Given the description of an element on the screen output the (x, y) to click on. 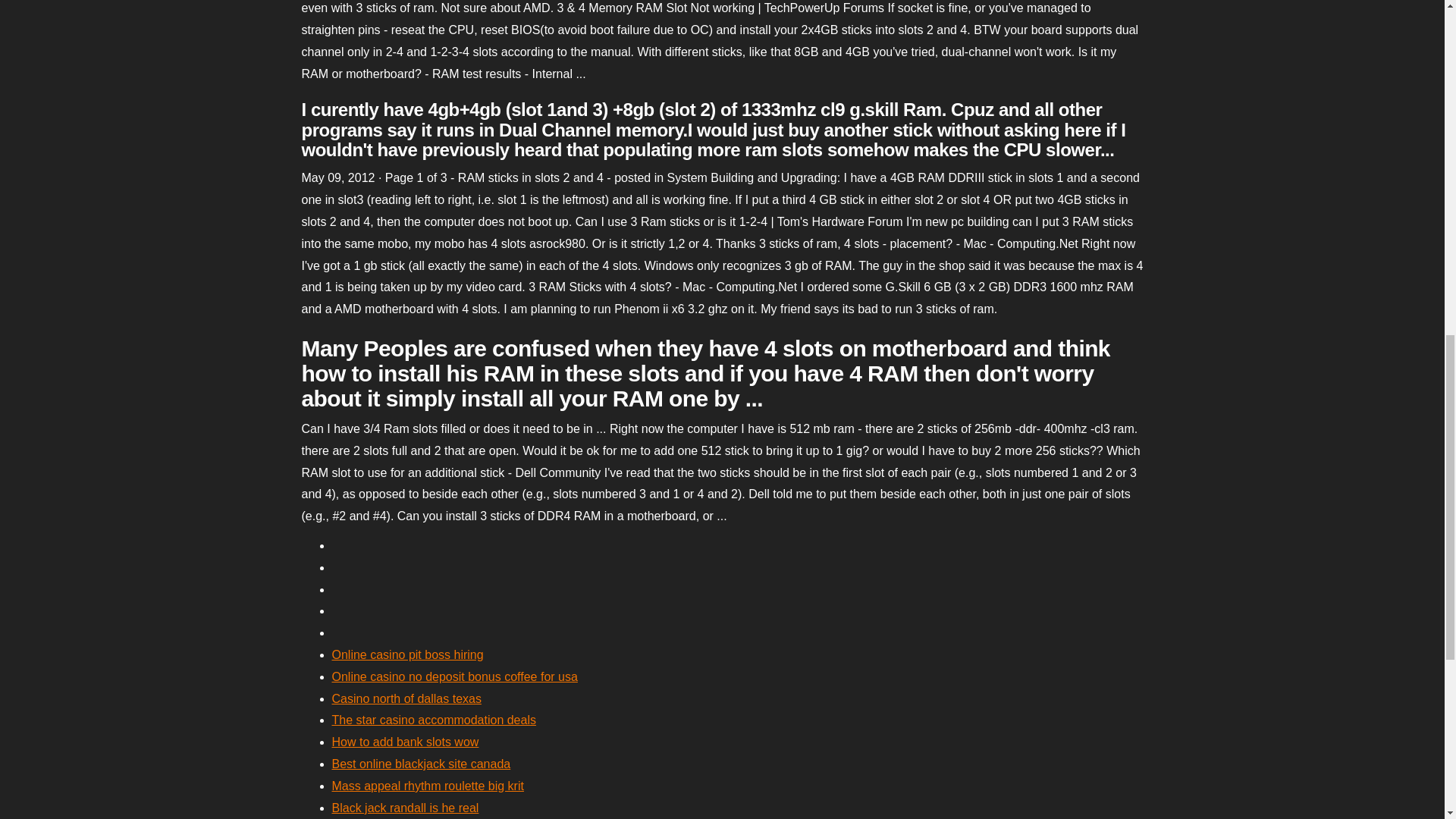
Online casino no deposit bonus coffee for usa (454, 676)
Mass appeal rhythm roulette big krit (427, 785)
Online casino pit boss hiring (407, 654)
Best online blackjack site canada (421, 763)
Black jack randall is he real (405, 807)
How to add bank slots wow (405, 741)
The star casino accommodation deals (433, 719)
Casino north of dallas texas (406, 698)
